Given the description of an element on the screen output the (x, y) to click on. 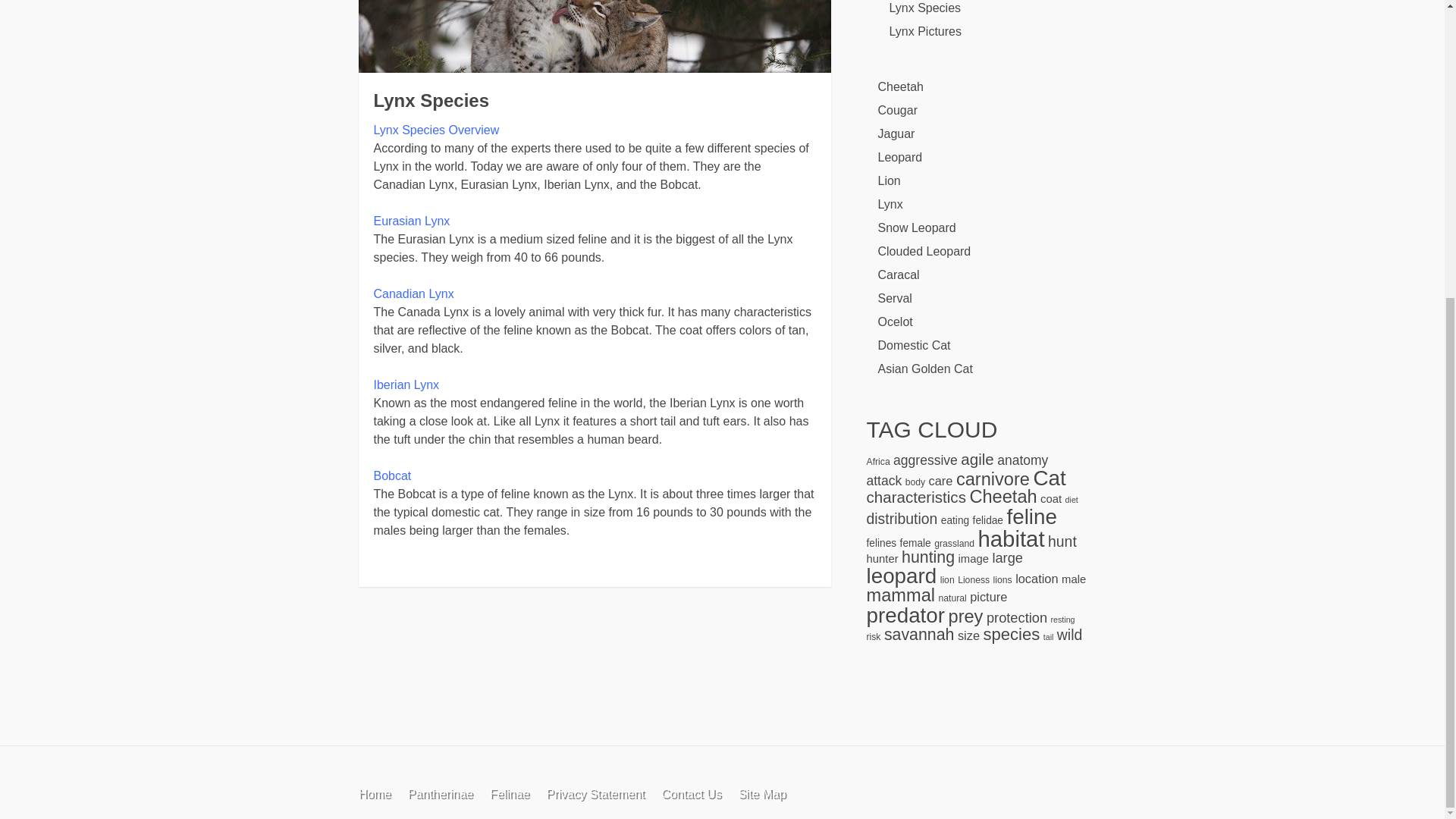
Lynx Species Overview (435, 129)
Bobcat (391, 475)
Canadian Lynx (412, 293)
Iberian Lynx (405, 384)
Eurasian Lynx (410, 220)
